Given the description of an element on the screen output the (x, y) to click on. 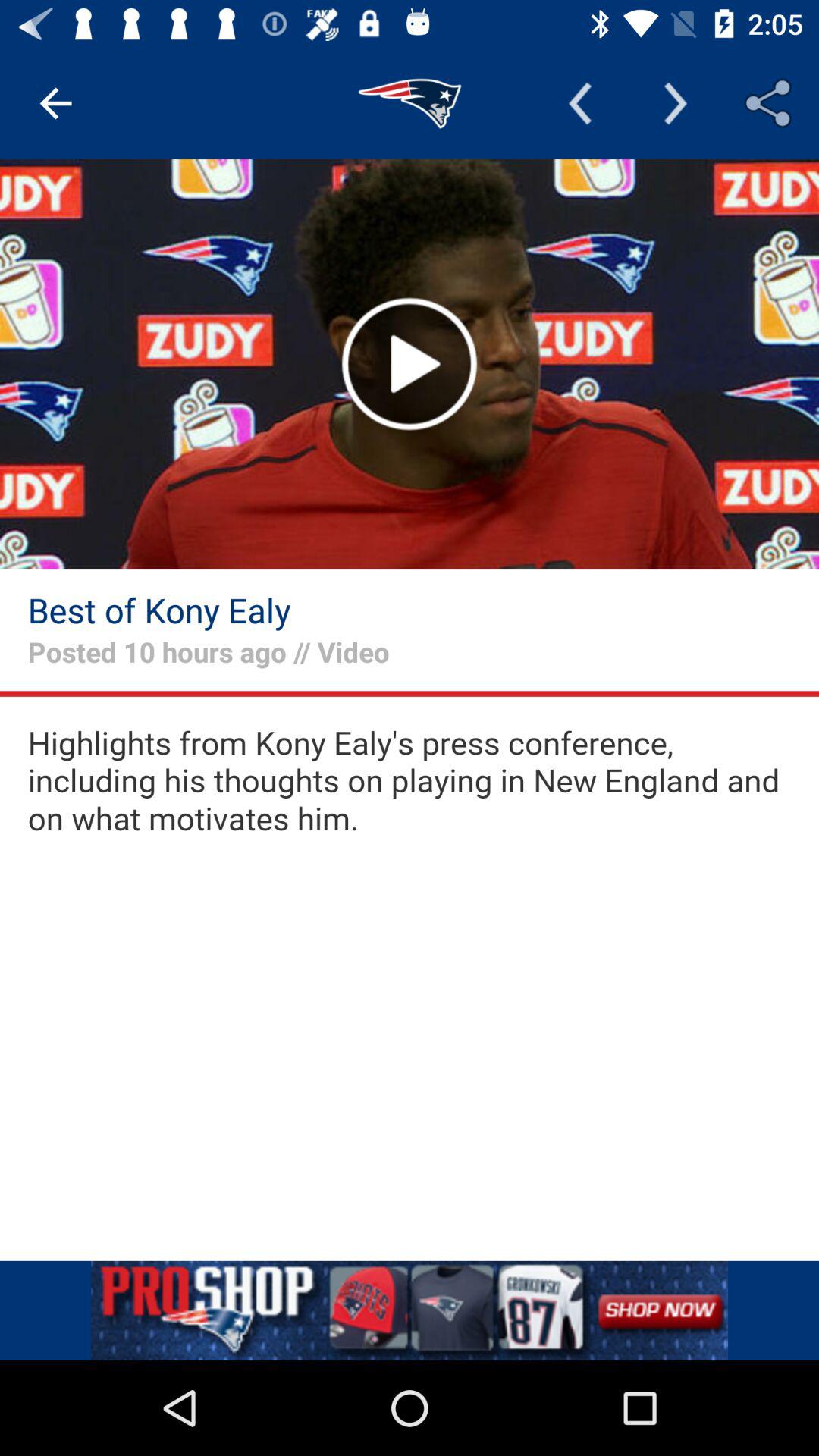
highlight the headline text (409, 780)
